Given the description of an element on the screen output the (x, y) to click on. 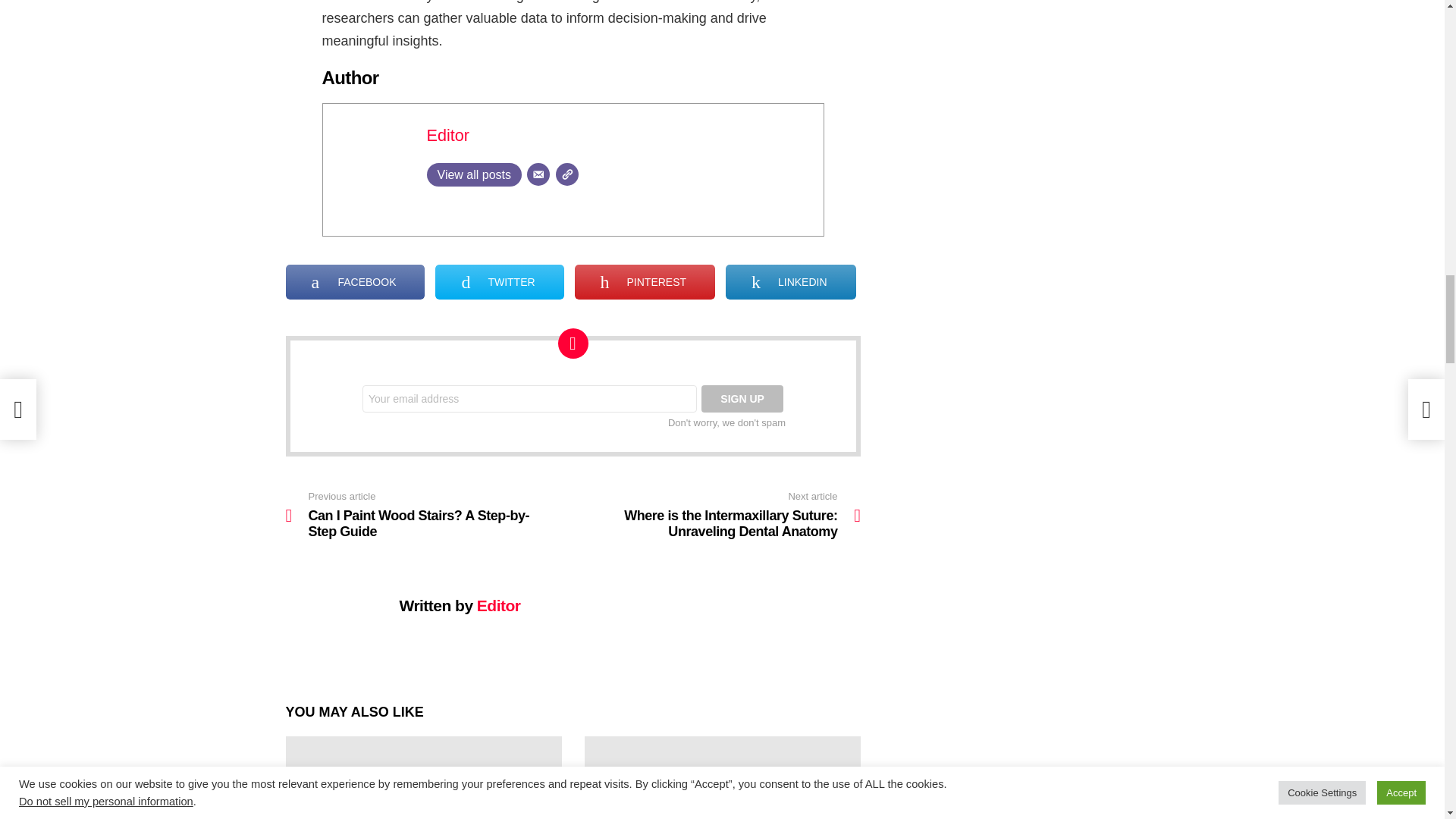
View all posts (473, 174)
Sign up (742, 398)
Editor (447, 135)
